Given the description of an element on the screen output the (x, y) to click on. 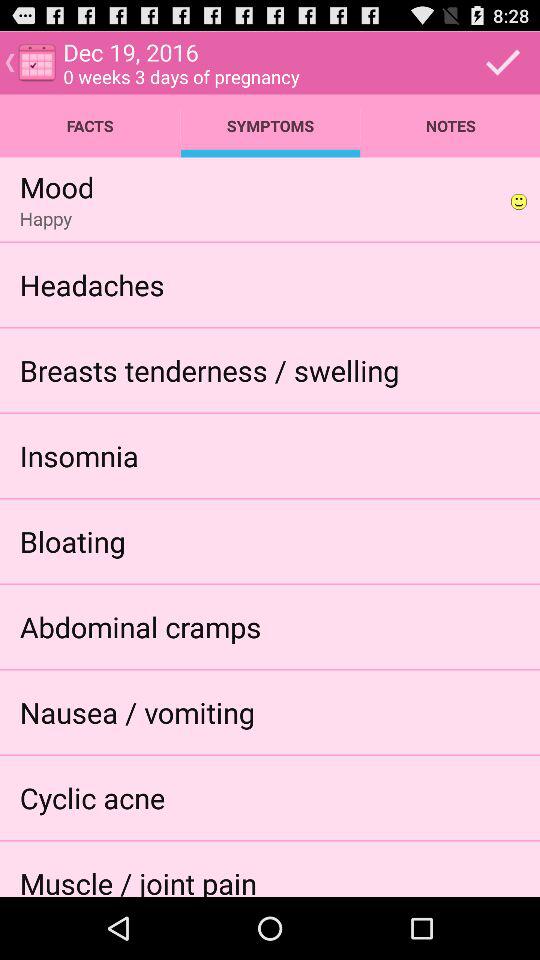
turn off the icon at the center (209, 369)
